Given the description of an element on the screen output the (x, y) to click on. 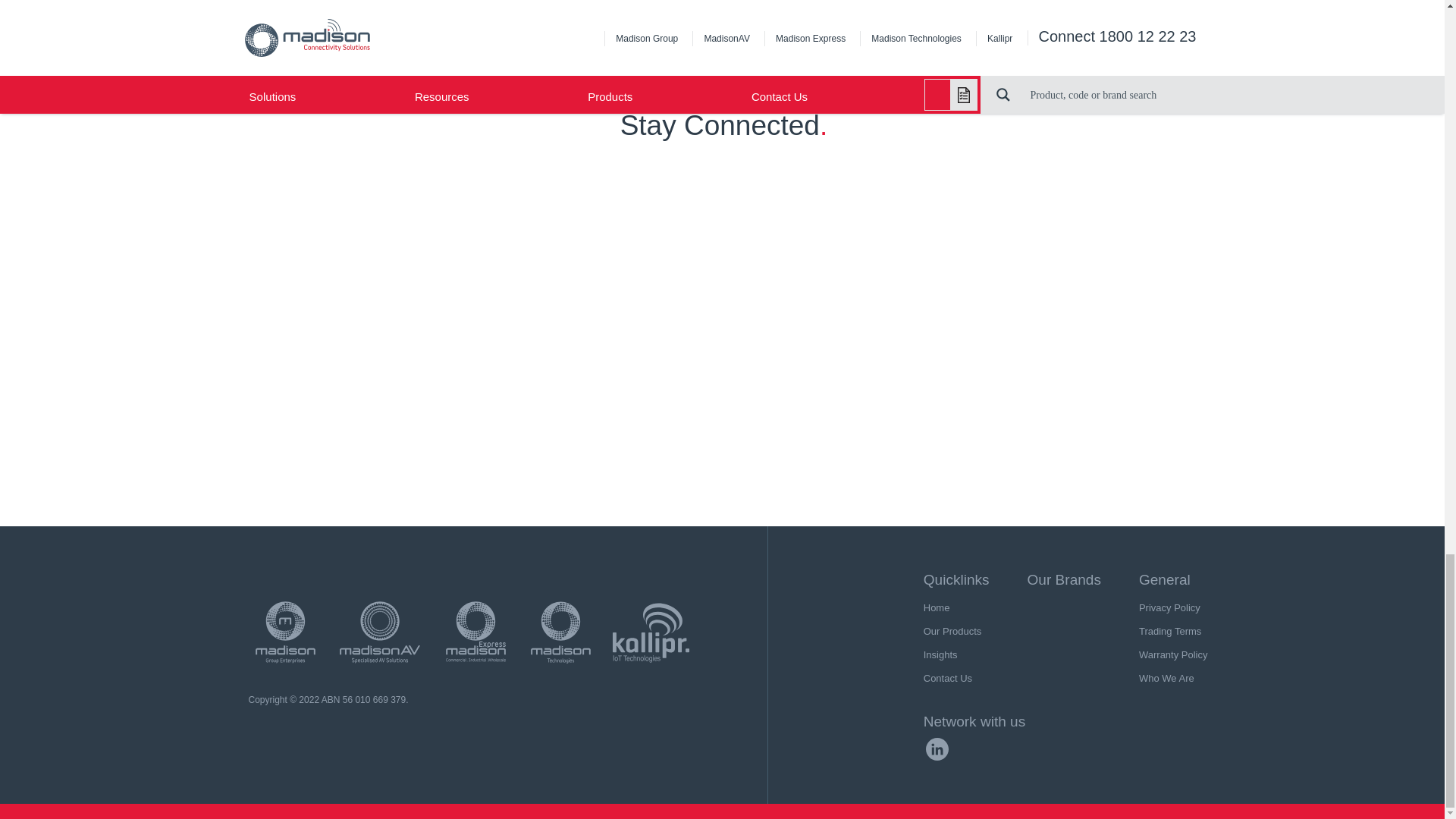
Madison Group Enterprises (284, 632)
MadisonAV (379, 632)
Madison Express (475, 632)
Madison Technologies (560, 632)
Kallipr (651, 632)
